Given the description of an element on the screen output the (x, y) to click on. 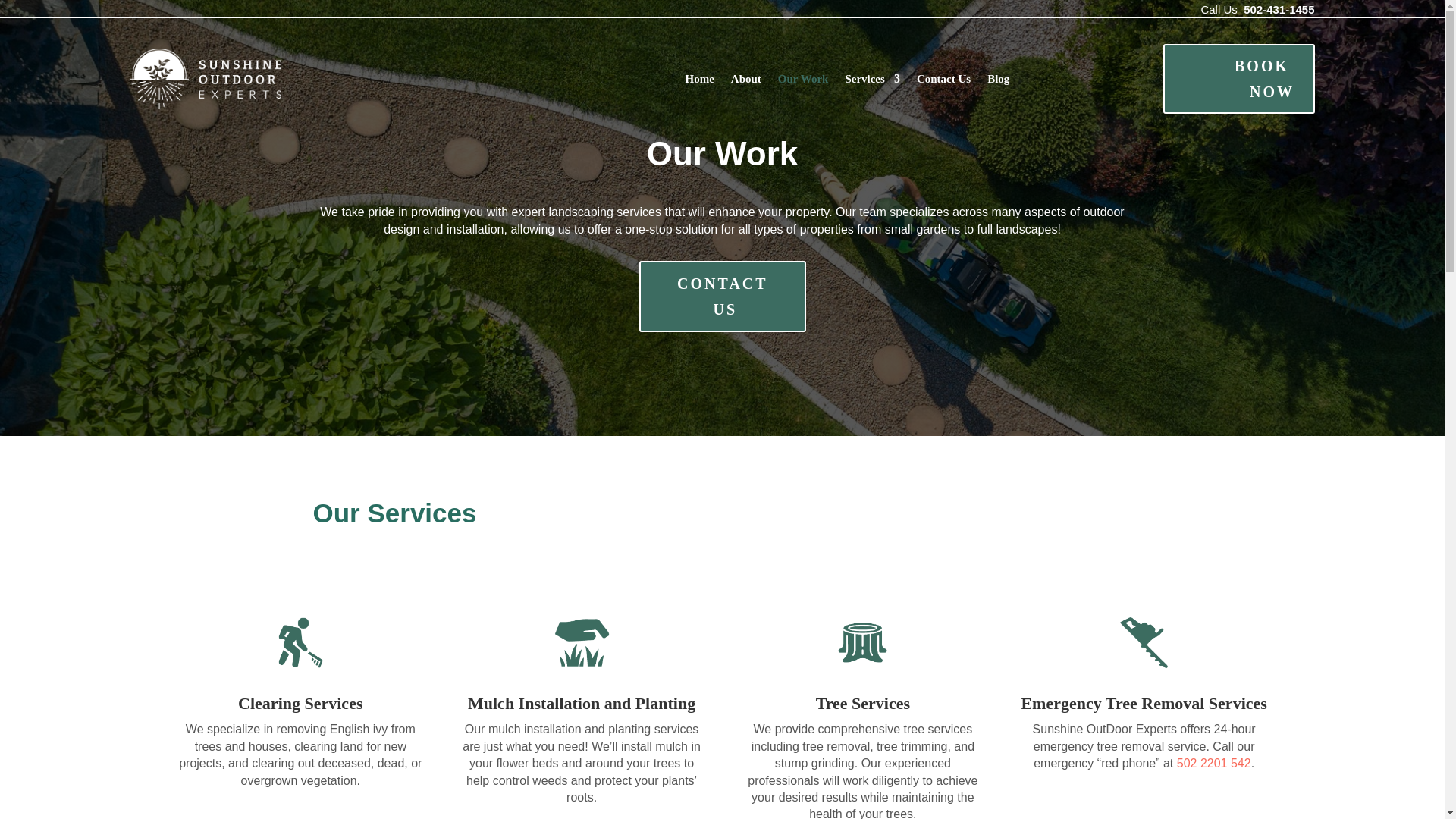
CONTACT US (722, 296)
Tree Services (862, 702)
502-431-1455 (1278, 9)
Emergency Tree Removal Services (1143, 702)
502 2201 542 (1213, 762)
Mulch Installation and Planting (581, 702)
BOOK NOW (1238, 78)
Contact Us (944, 78)
Services (871, 78)
Clearing Services (300, 702)
